Given the description of an element on the screen output the (x, y) to click on. 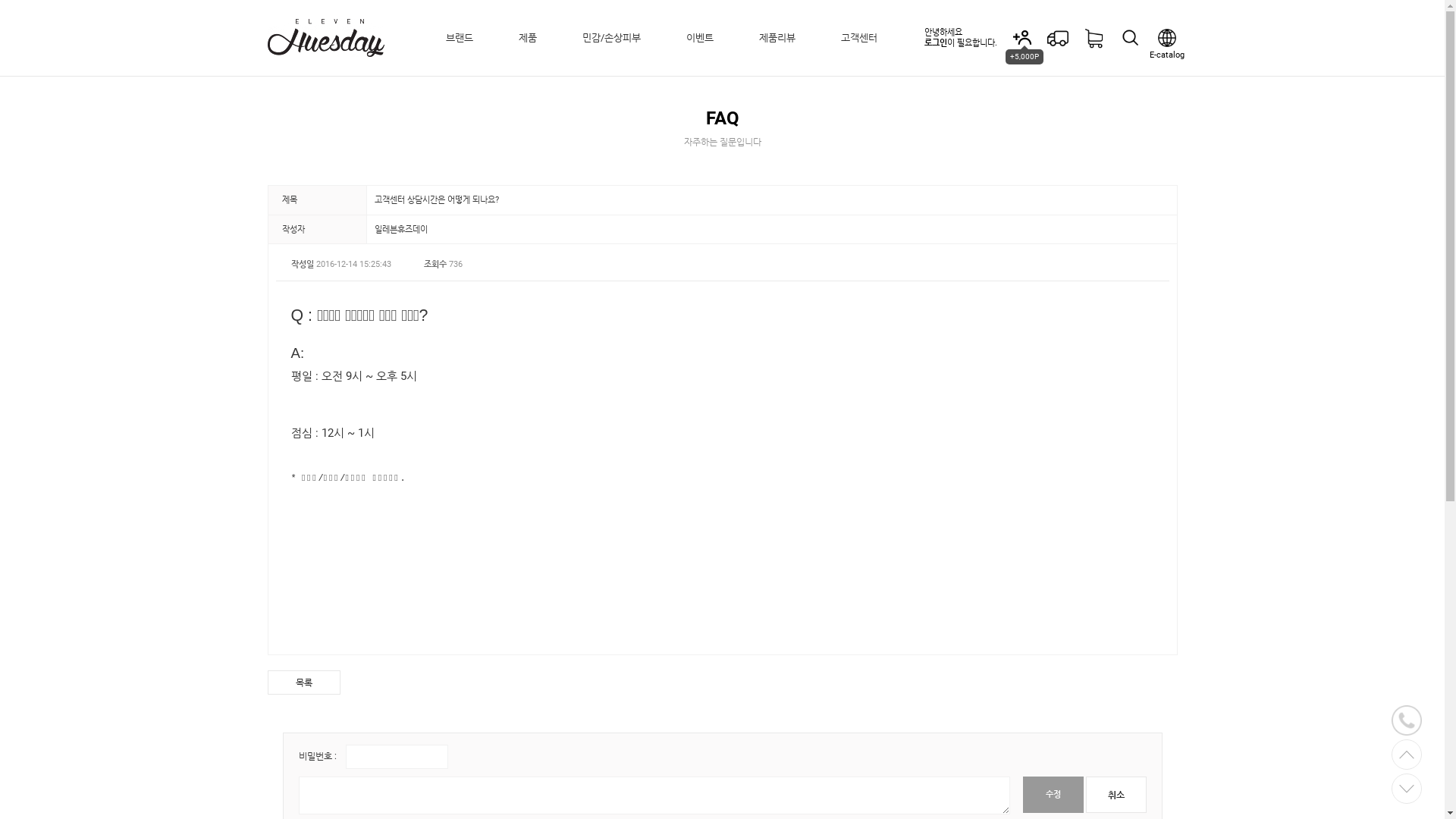
+5,000P Element type: text (1021, 37)
E-catalog Element type: text (1165, 37)
